Given the description of an element on the screen output the (x, y) to click on. 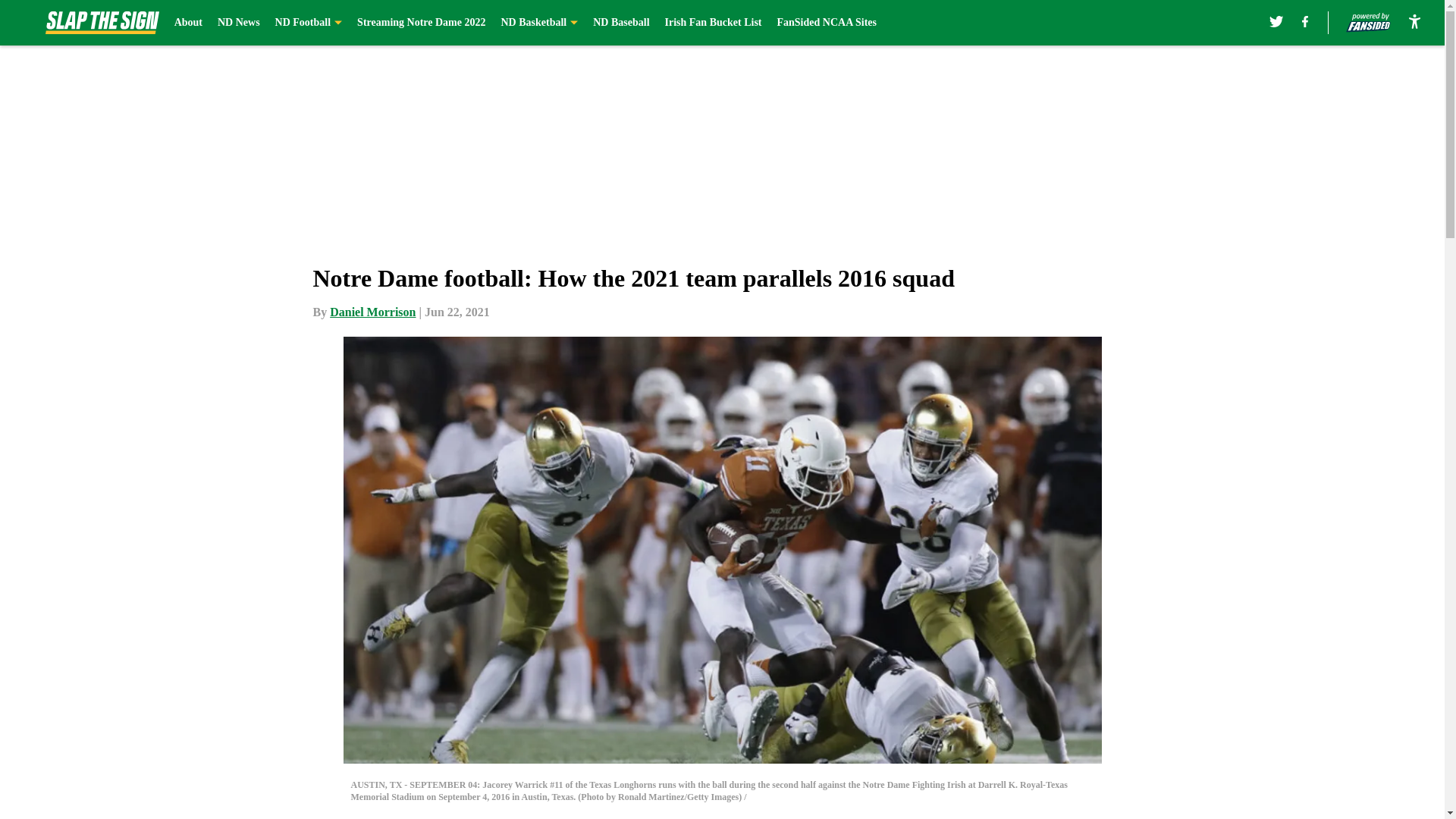
About (188, 22)
Streaming Notre Dame 2022 (420, 22)
ND News (238, 22)
ND Baseball (620, 22)
Daniel Morrison (372, 311)
Irish Fan Bucket List (713, 22)
FanSided NCAA Sites (826, 22)
